Given the description of an element on the screen output the (x, y) to click on. 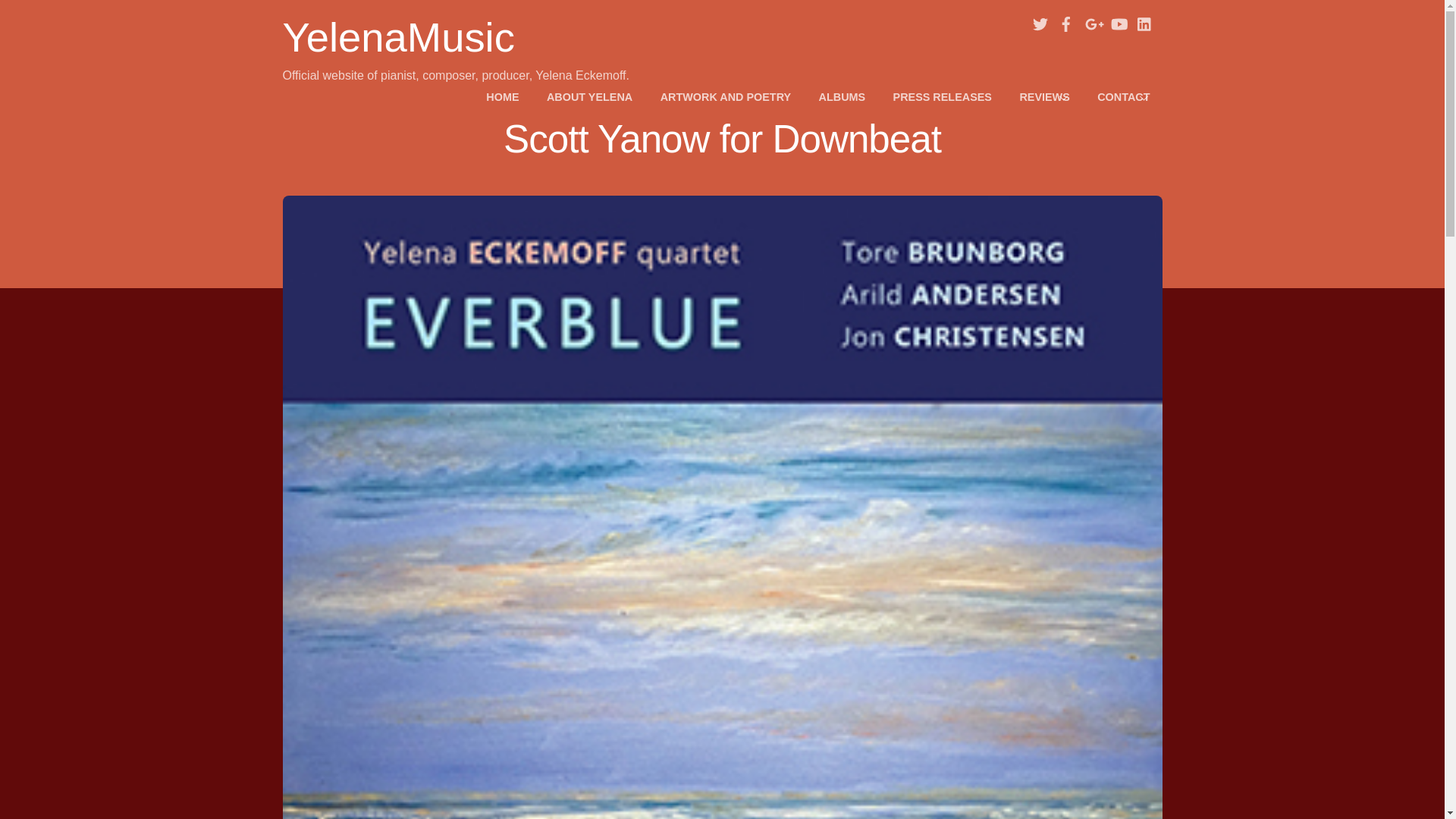
ABOUT YELENA (589, 97)
ARTWORK AND POETRY (725, 97)
Bio (589, 97)
Scott Yanow for Downbeat (721, 138)
REVIEWS (1044, 97)
YelenaMusic (397, 37)
YelenaMusic (397, 37)
PRESS RELEASES (942, 97)
